Given the description of an element on the screen output the (x, y) to click on. 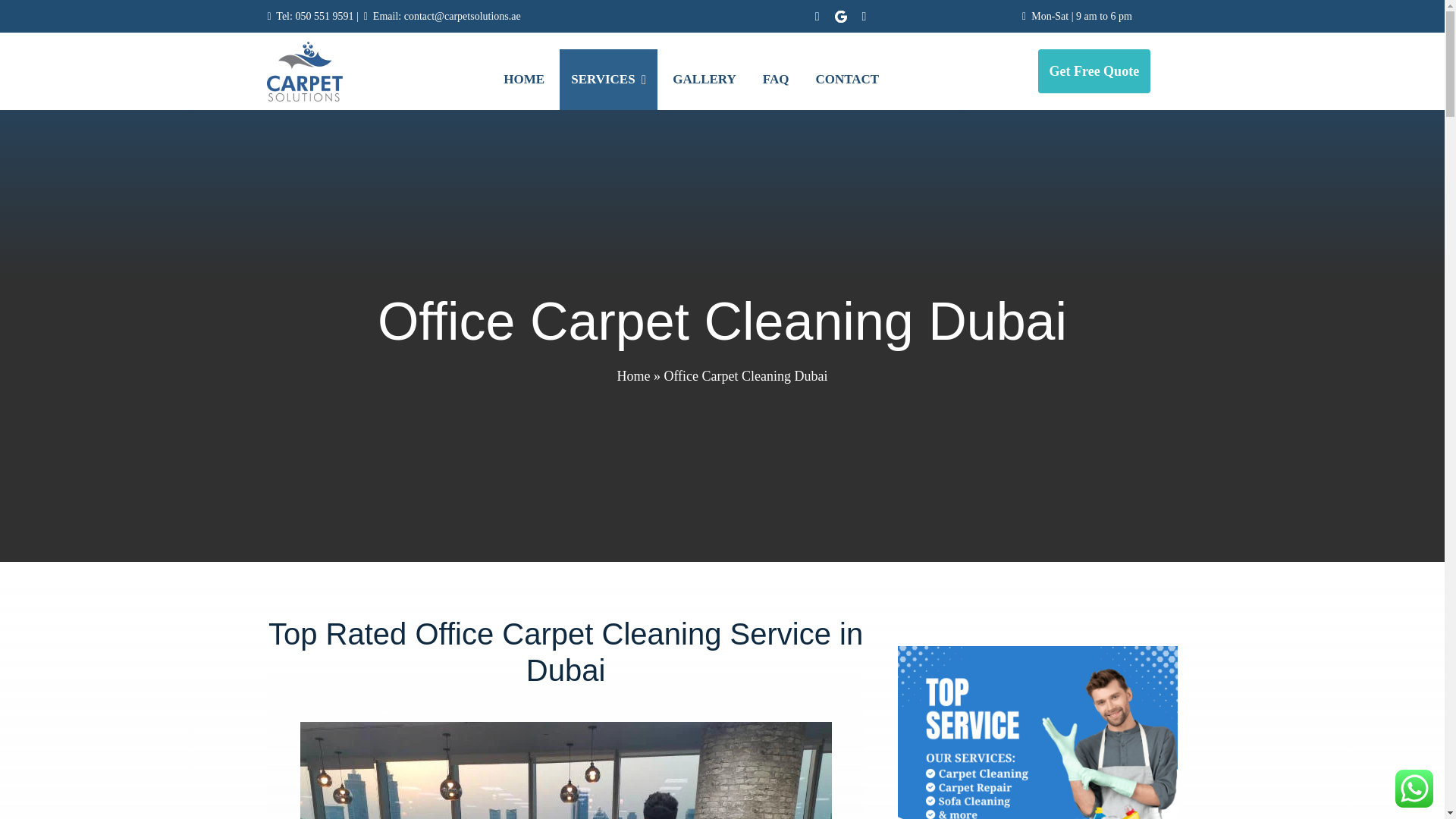
GALLERY (703, 79)
SERVICES (608, 79)
CONTACT (846, 79)
Tel: 050 551 9591 (314, 16)
Get Free Quote (1093, 71)
Home (632, 376)
HOME (524, 79)
